Given the description of an element on the screen output the (x, y) to click on. 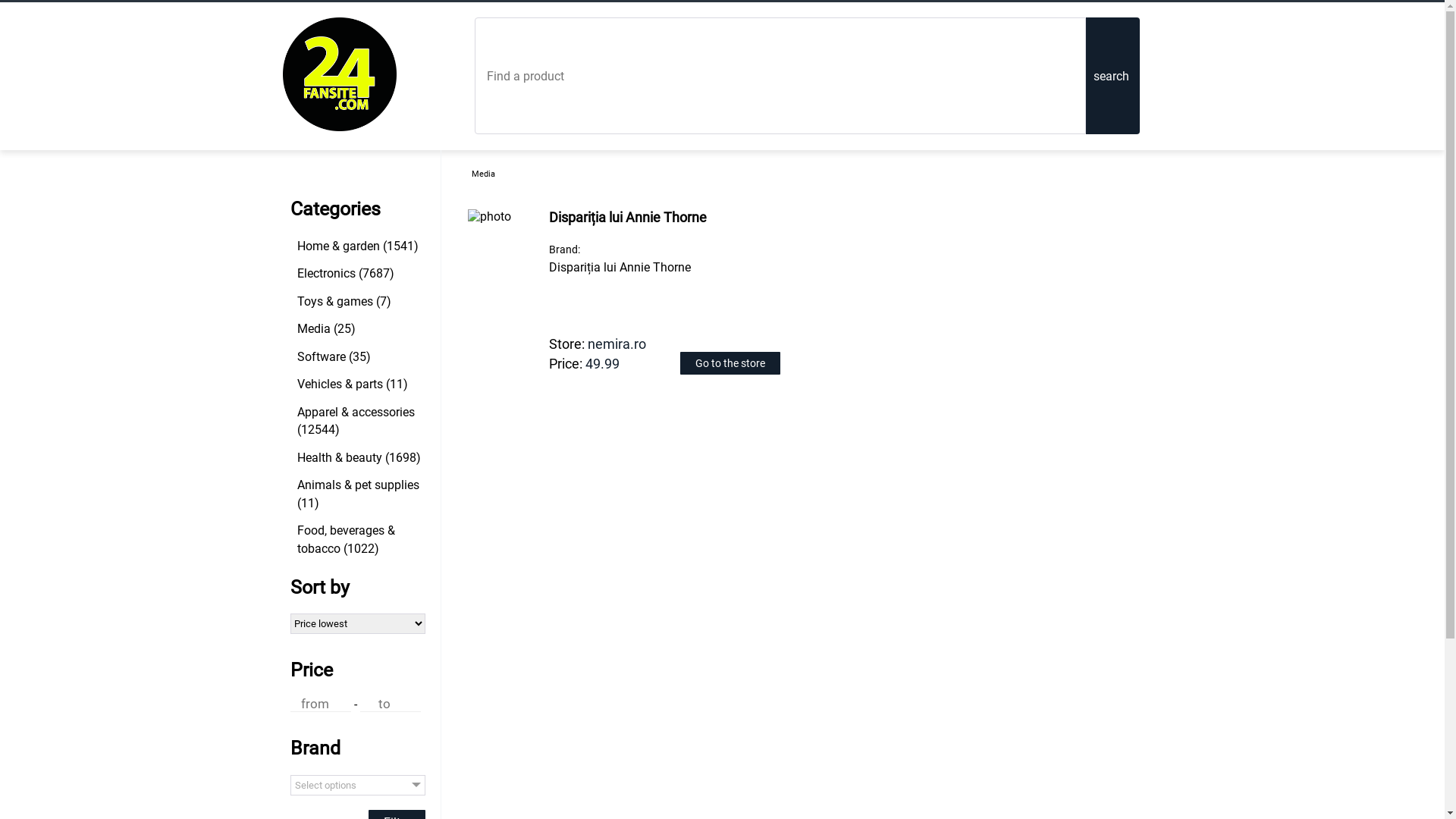
Go to the store Element type: text (729, 362)
Food, beverages & tobacco (1022) Element type: text (359, 538)
Animals & pet supplies (11) Element type: text (359, 493)
Software (35) Element type: text (359, 356)
Vehicles & parts (11) Element type: text (359, 384)
Toys & games (7) Element type: text (359, 301)
Media (25) Element type: text (359, 328)
Select options Element type: text (356, 785)
Health & beauty (1698) Element type: text (359, 457)
Media Element type: text (483, 173)
search Element type: text (1112, 75)
Apparel & accessories (12544) Element type: text (359, 420)
Electronics (7687) Element type: text (359, 273)
Home & garden (1541) Element type: text (359, 246)
